Given the description of an element on the screen output the (x, y) to click on. 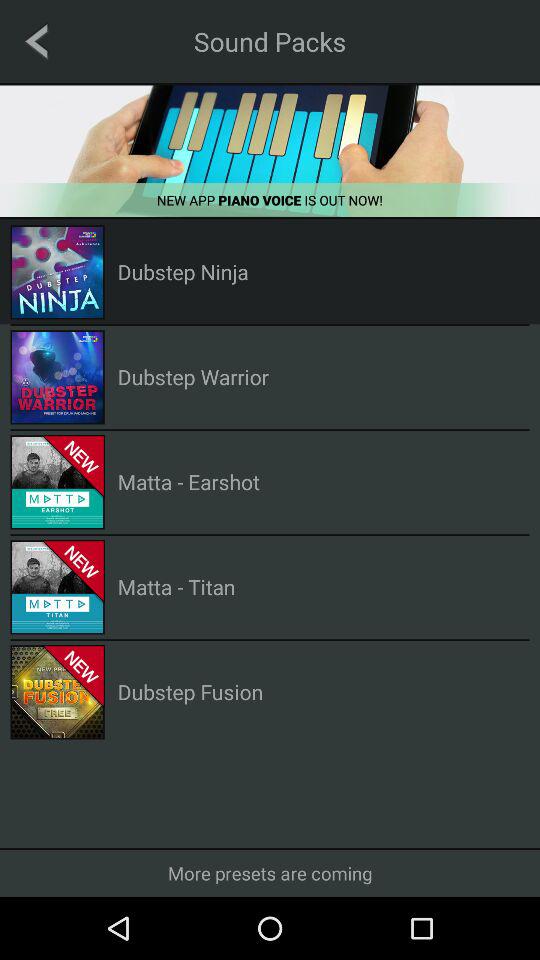
turn off the icon next to sound packs item (36, 41)
